Given the description of an element on the screen output the (x, y) to click on. 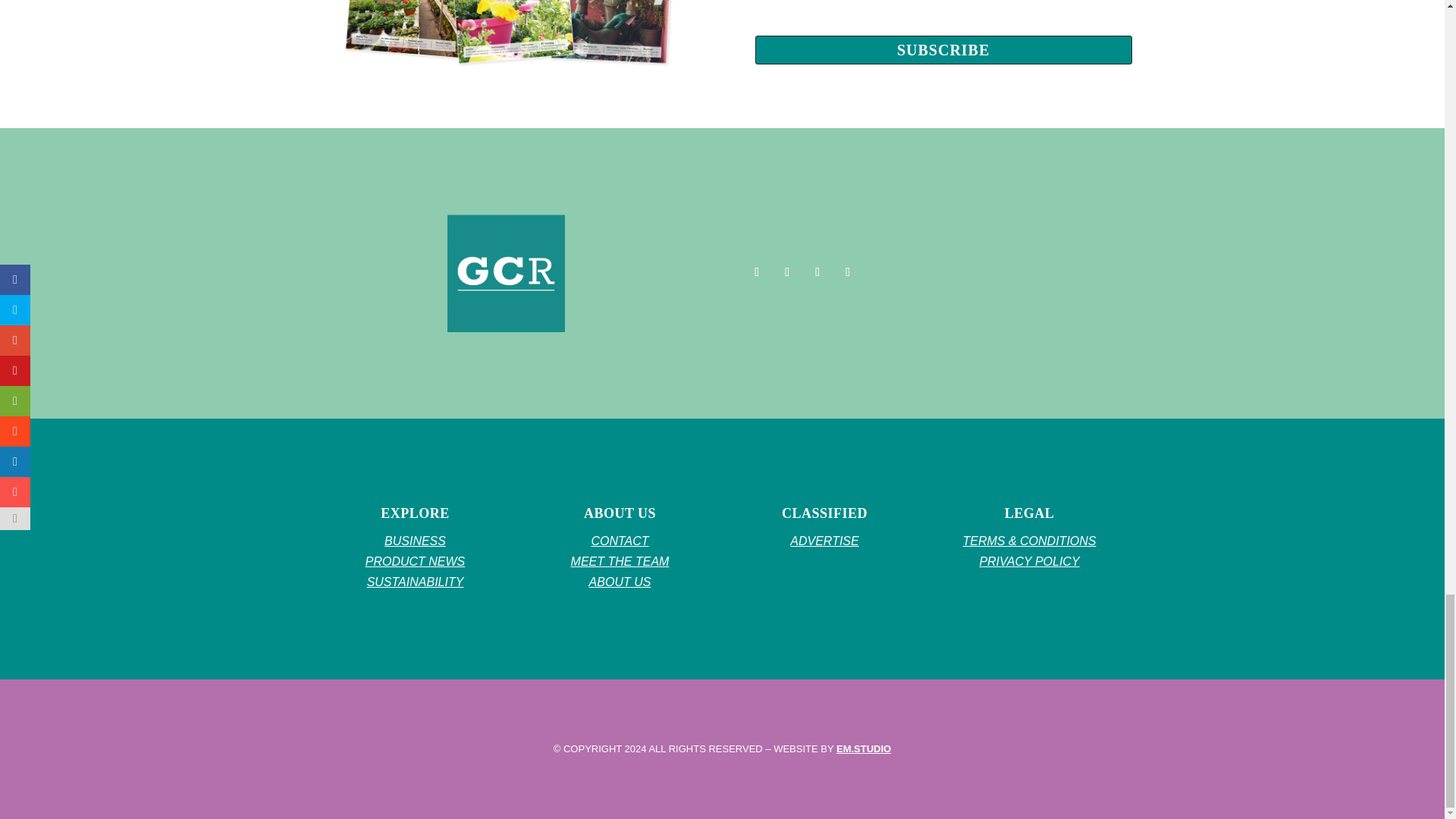
Follow on Twitter (786, 272)
Follow on Facebook (756, 272)
Follow on LinkedIn (847, 272)
Follow on Instagram (817, 272)
